Given the description of an element on the screen output the (x, y) to click on. 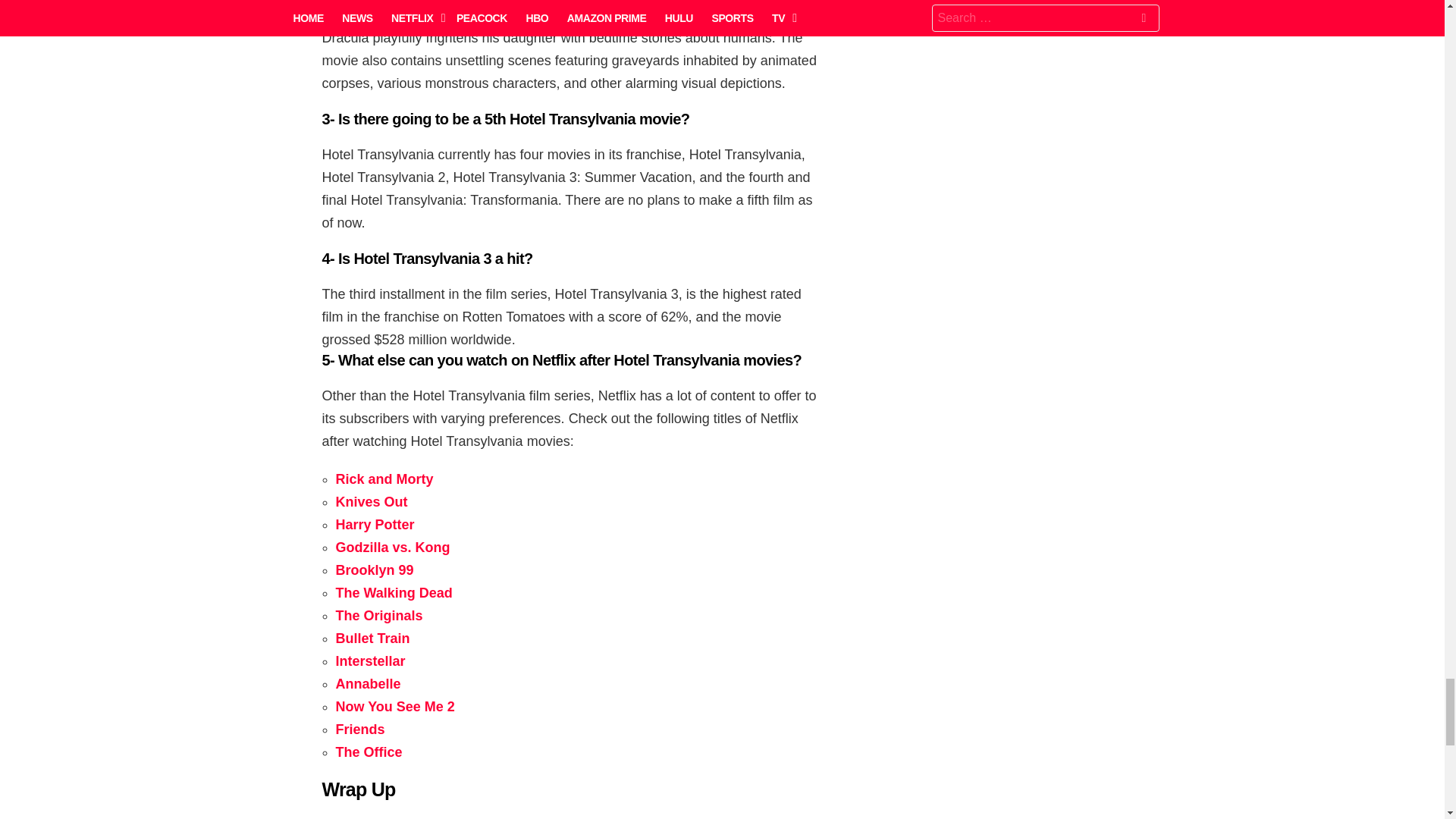
Knives Out (370, 501)
Rick and Morty (383, 478)
